Given the description of an element on the screen output the (x, y) to click on. 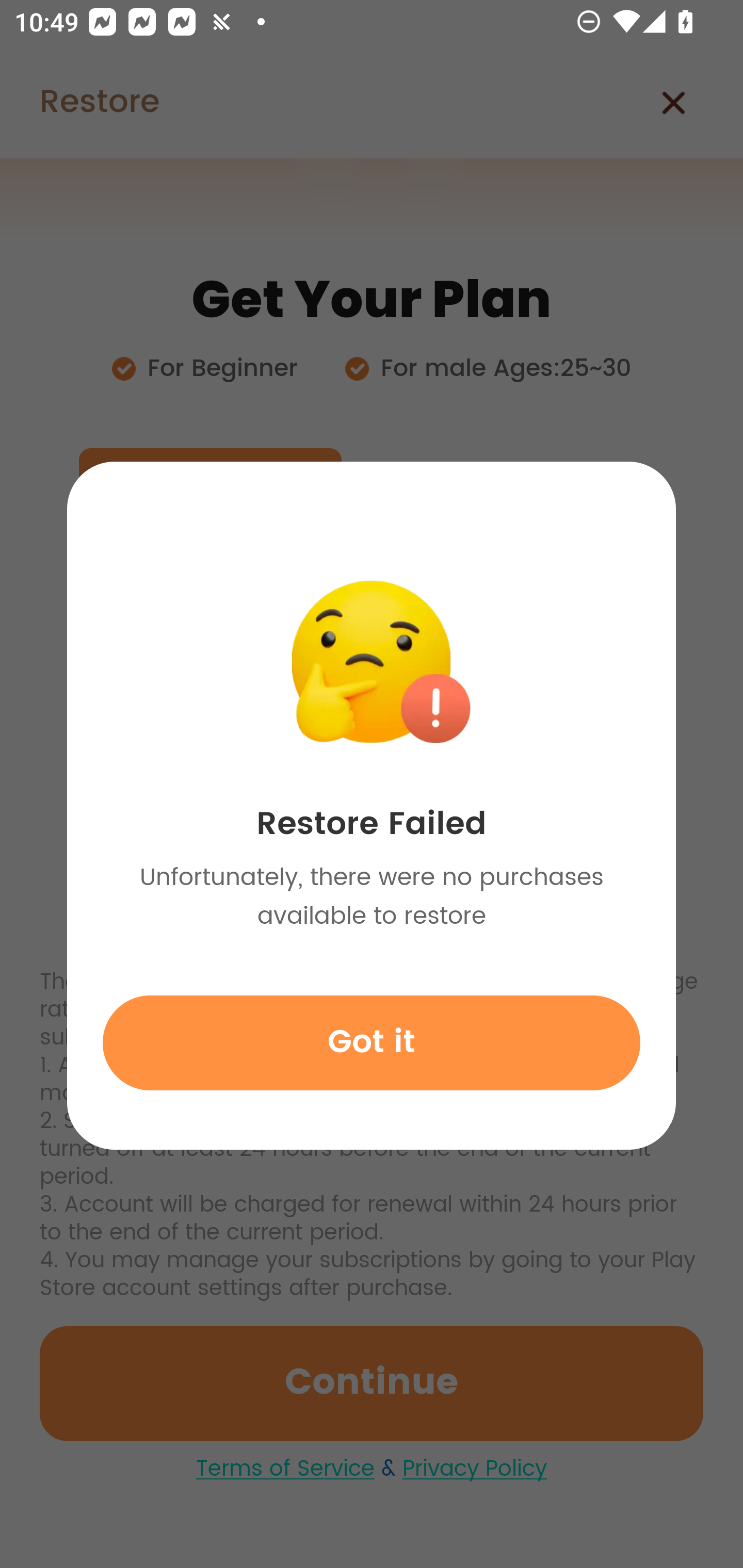
Got it (371, 1042)
